Given the description of an element on the screen output the (x, y) to click on. 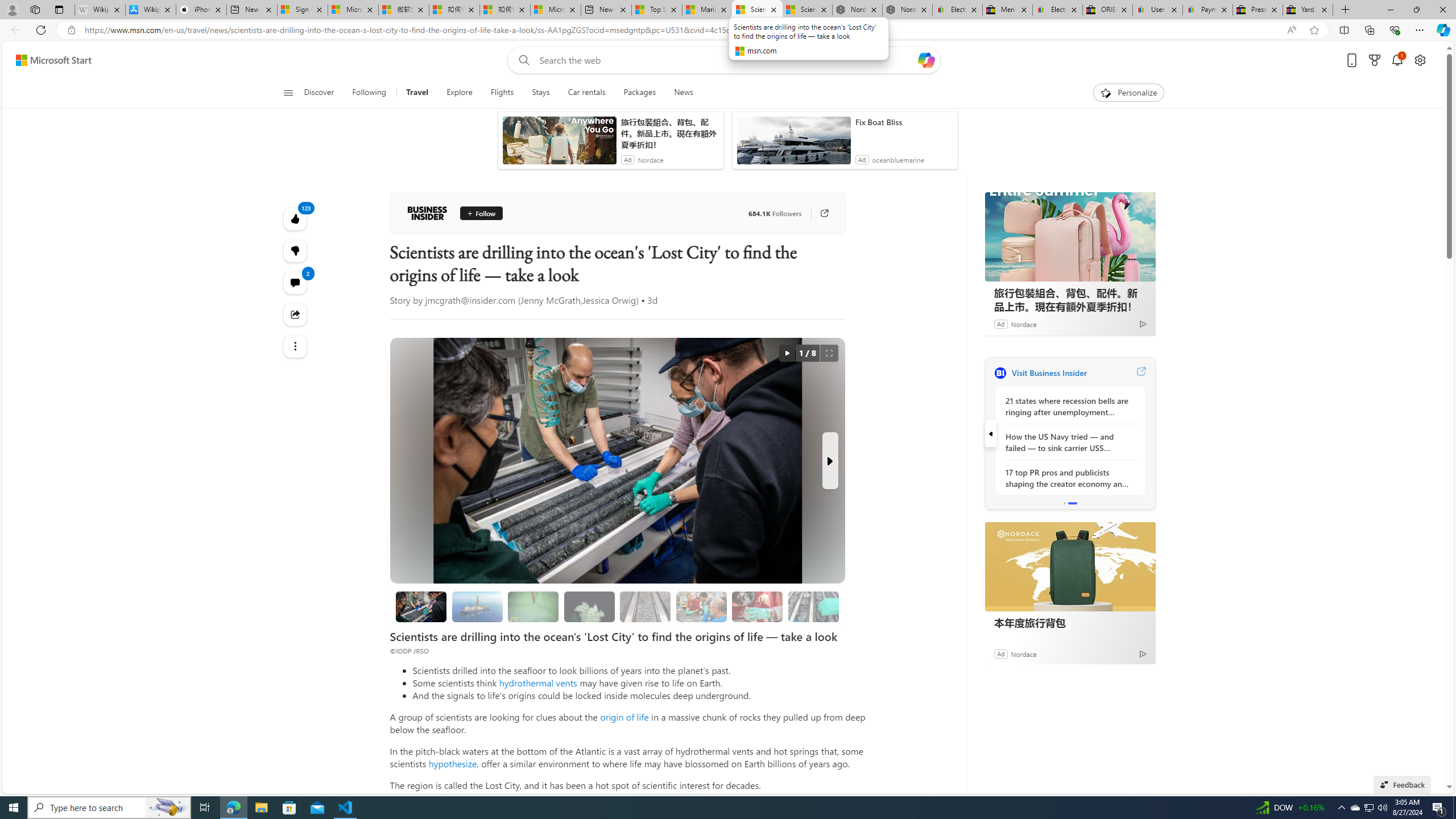
Go to publisher's site (817, 213)
Sign in to your Microsoft account (302, 9)
Looking for evidence of oxygen-free life (701, 606)
The Lost City could hold clues to the origin of life. (588, 606)
Class: at-item (295, 345)
